Given the description of an element on the screen output the (x, y) to click on. 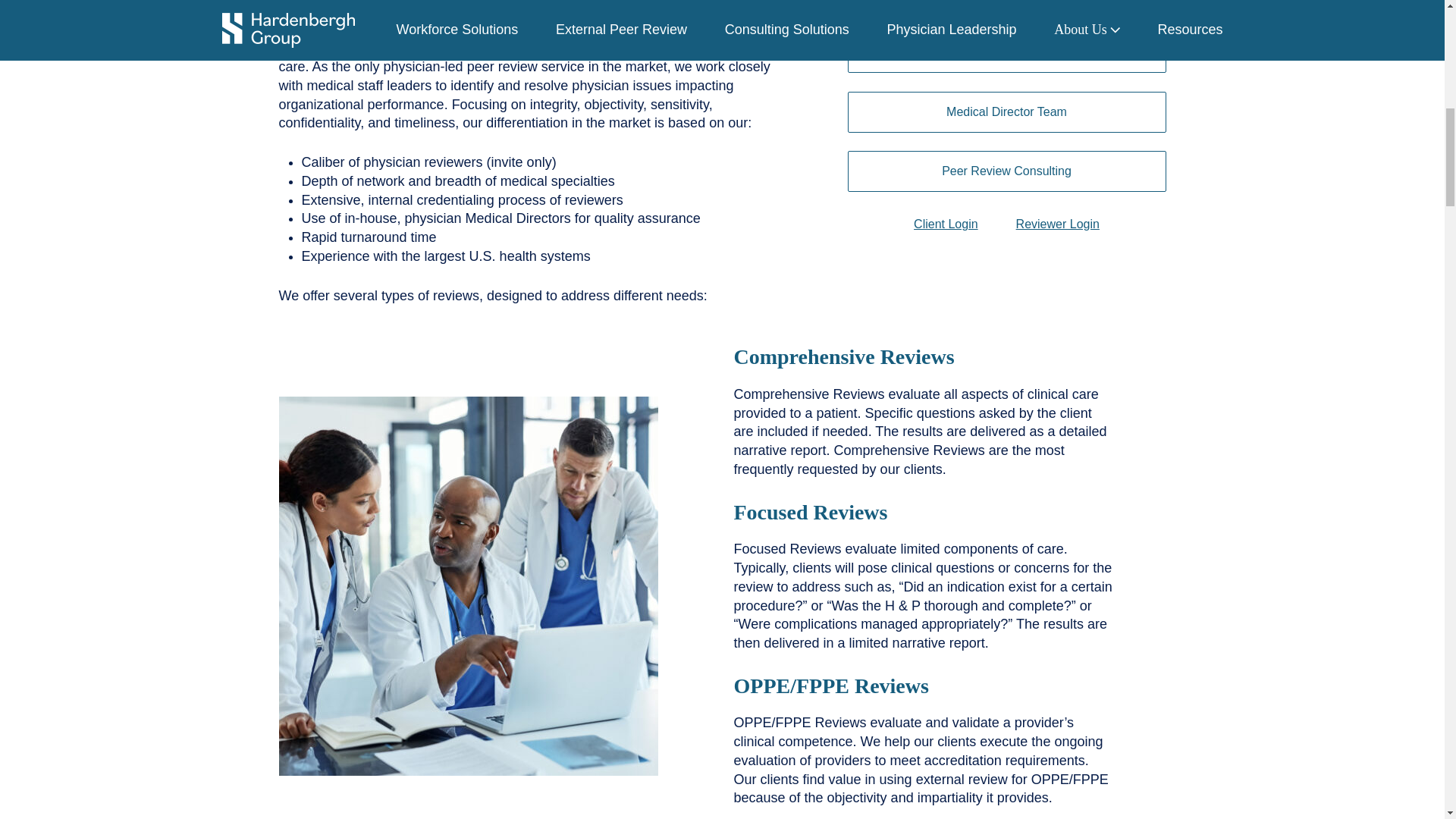
Medical Director Team (1006, 110)
Reviewer Login (1057, 223)
Peer Review Consulting (1006, 170)
Client Login (946, 223)
